Given the description of an element on the screen output the (x, y) to click on. 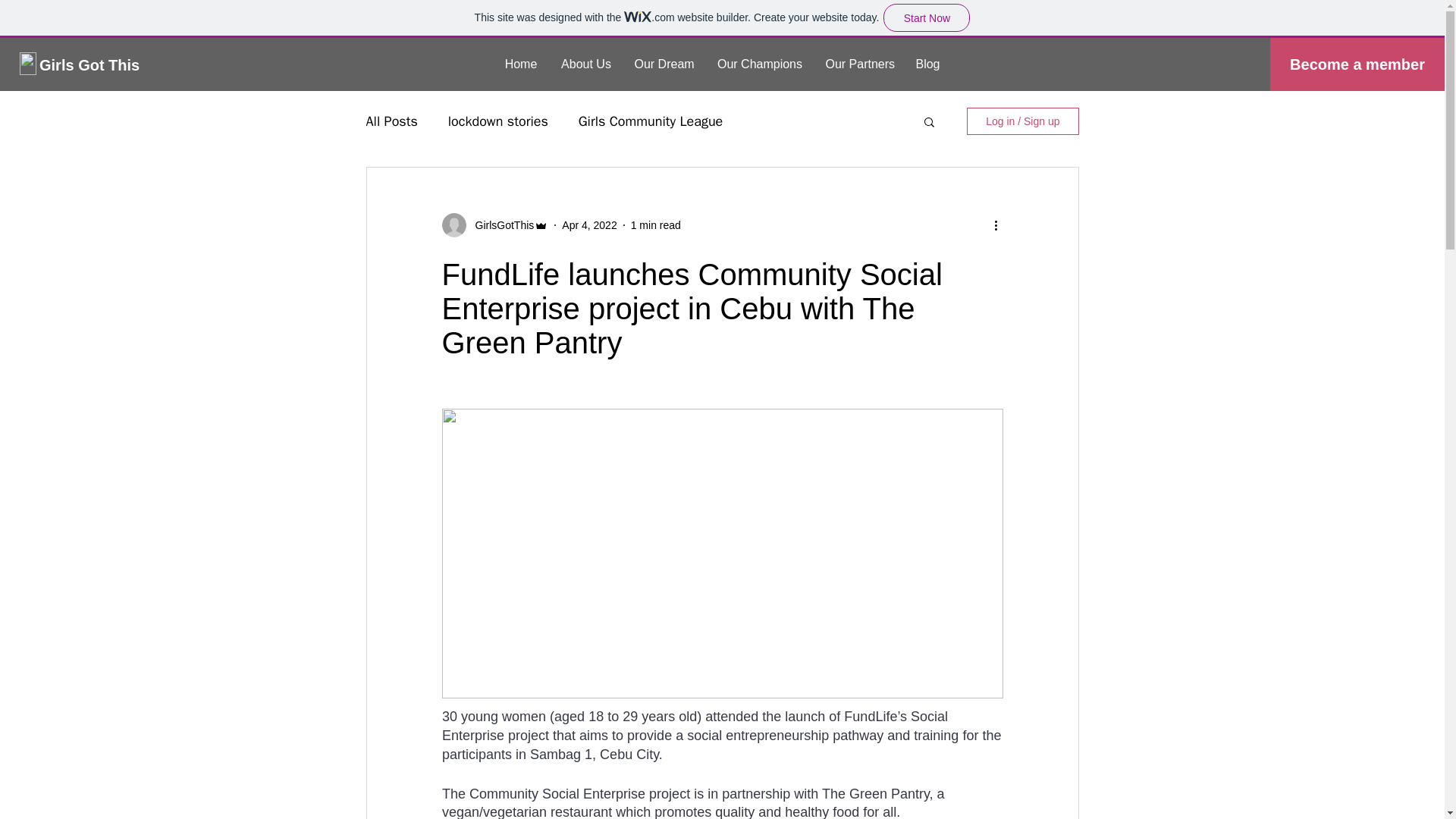
Girls Community League (650, 121)
Our Champions (758, 63)
Our Dream (664, 63)
lockdown stories (498, 121)
Girls Got This (90, 65)
Apr 4, 2022 (588, 224)
GirlsGotThis (499, 224)
All Posts (390, 121)
Blog (928, 63)
Our Partners (858, 63)
About Us (585, 63)
1 min read (655, 224)
Home (521, 63)
